Given the description of an element on the screen output the (x, y) to click on. 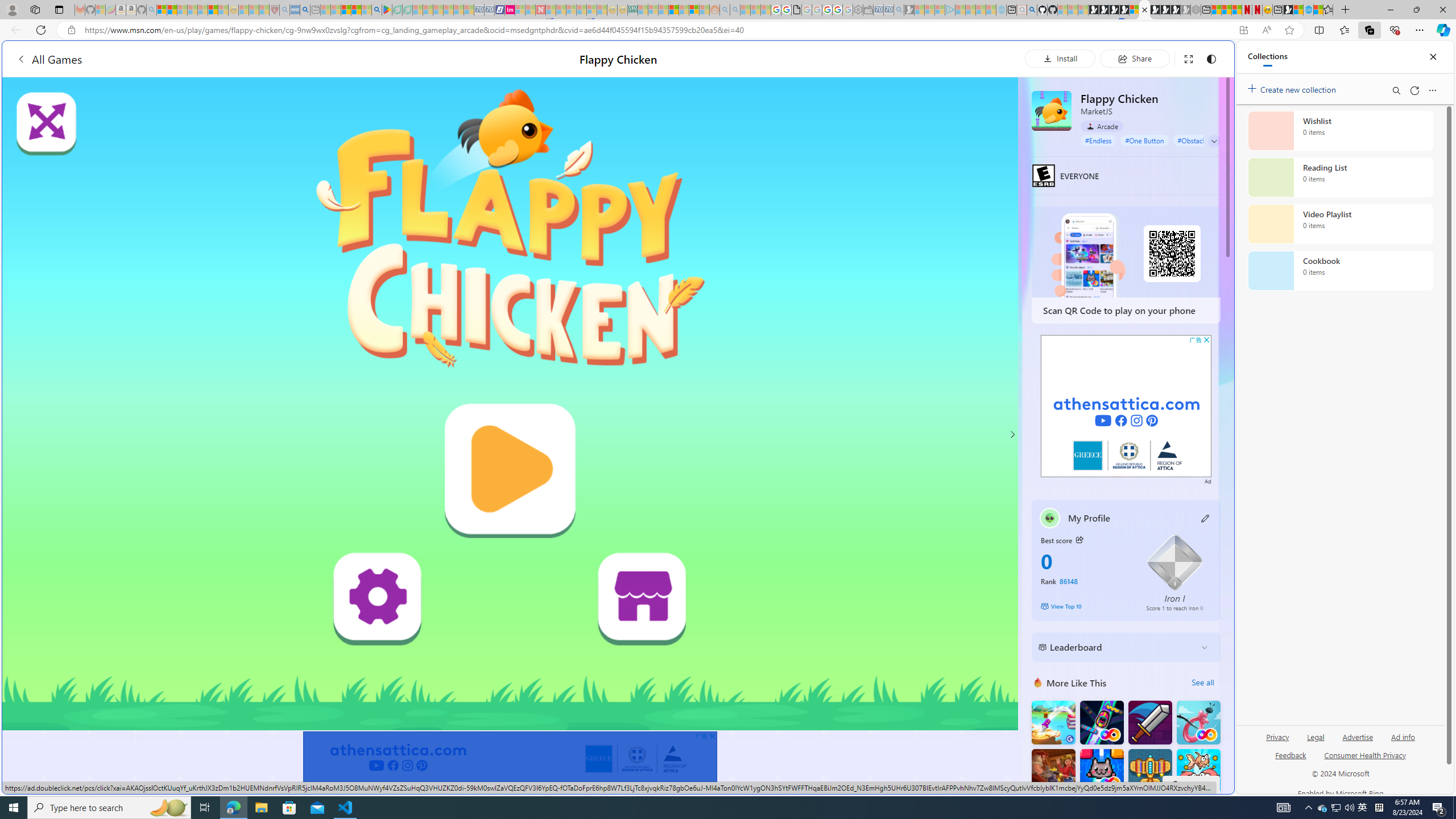
Jobs - lastminute.com Investor Portal (509, 9)
EVERYONE (1043, 175)
All Games (49, 58)
